Given the description of an element on the screen output the (x, y) to click on. 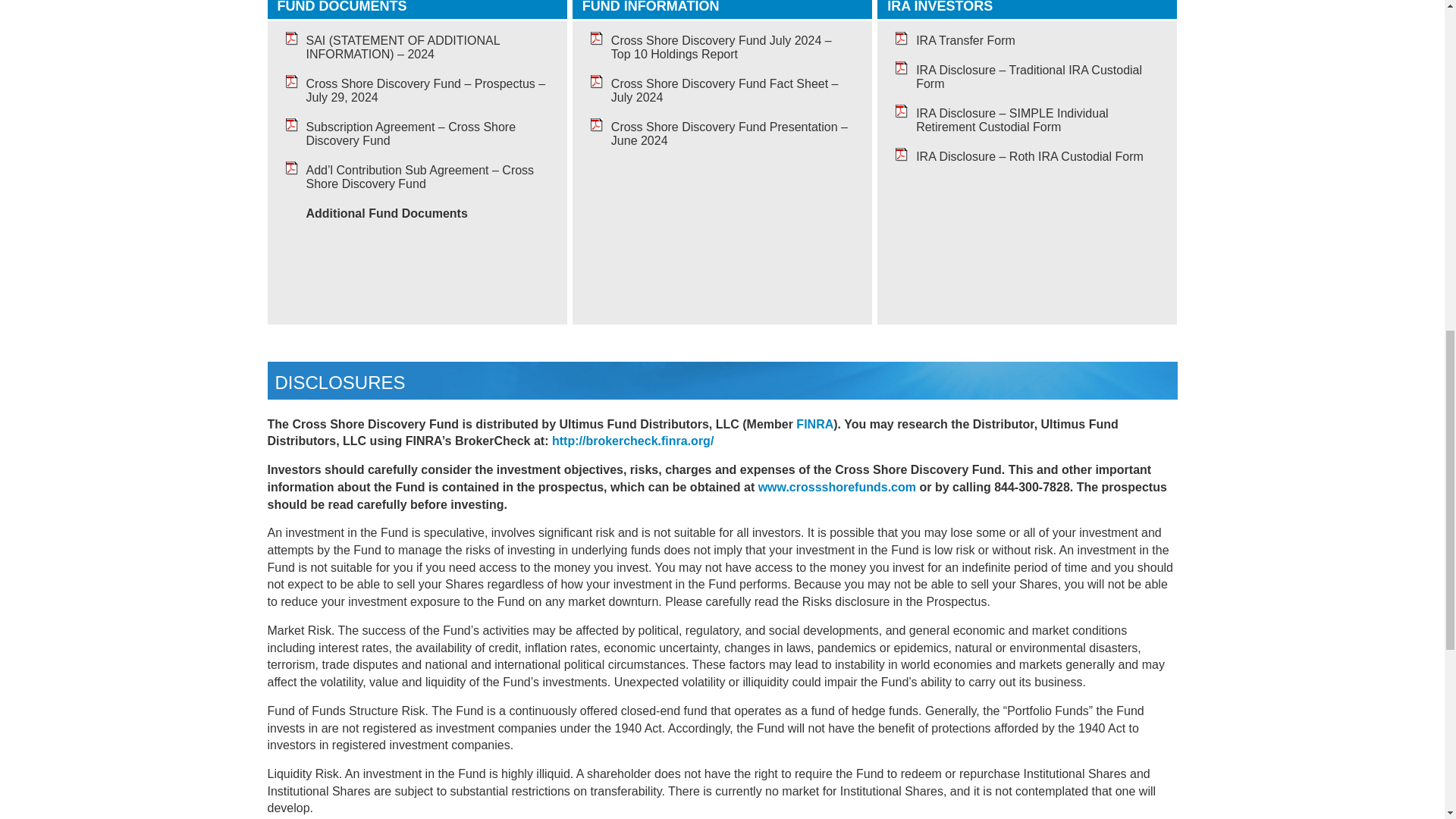
IRA Transfer Form (964, 40)
Additional Fund Documents (386, 213)
www.crossshorefunds.com (836, 486)
FINRA (814, 423)
